Given the description of an element on the screen output the (x, y) to click on. 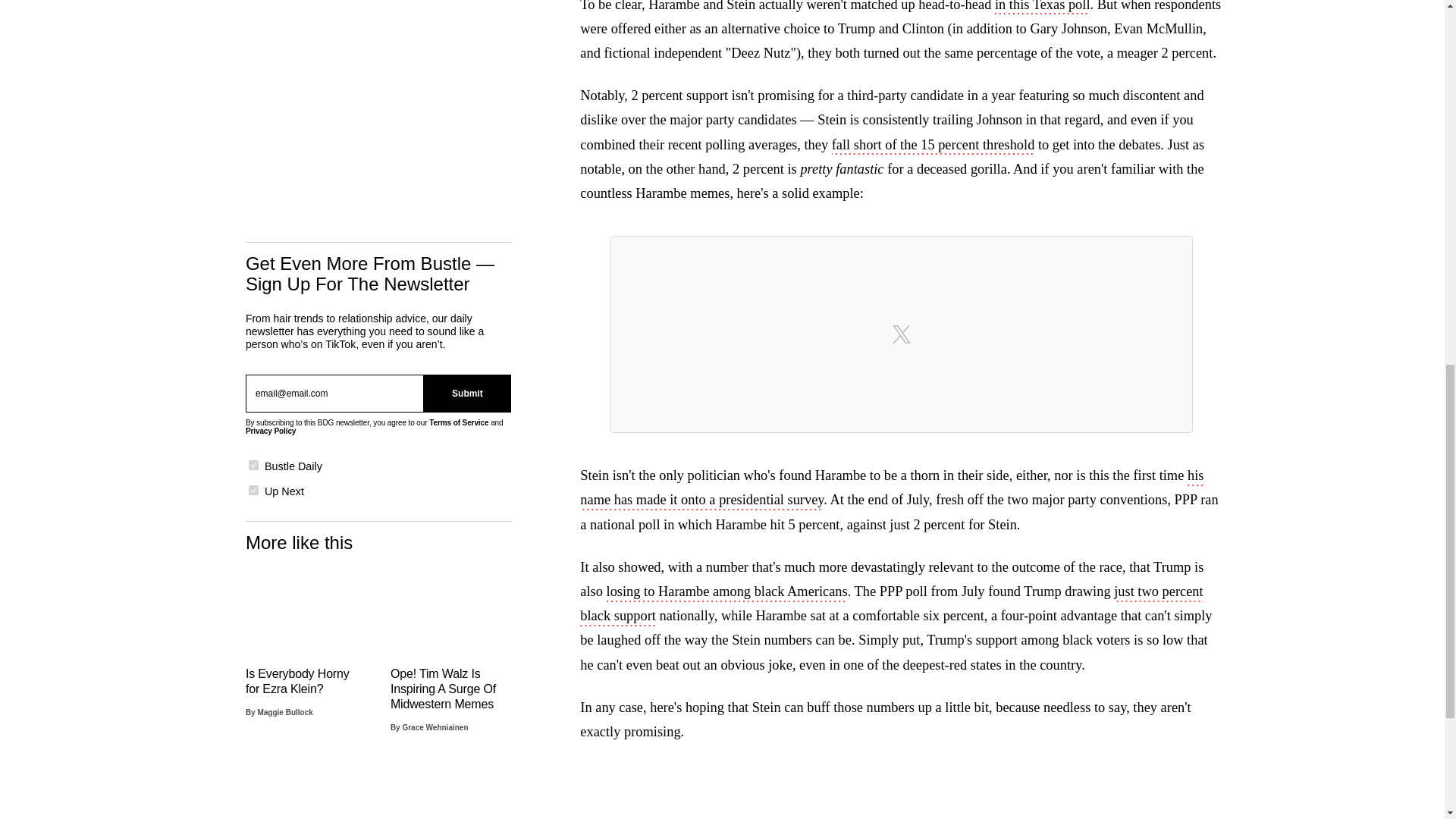
Privacy Policy (270, 430)
his name has made it onto a presidential survey (891, 488)
just two percent black support (890, 604)
Terms of Service (458, 422)
losing to Harambe among black Americans (727, 592)
fall short of the 15 percent threshold (933, 146)
in this Texas poll (1042, 7)
Harry Daniels Is Wailing With A Purpose (450, 791)
Submit (467, 393)
